Given the description of an element on the screen output the (x, y) to click on. 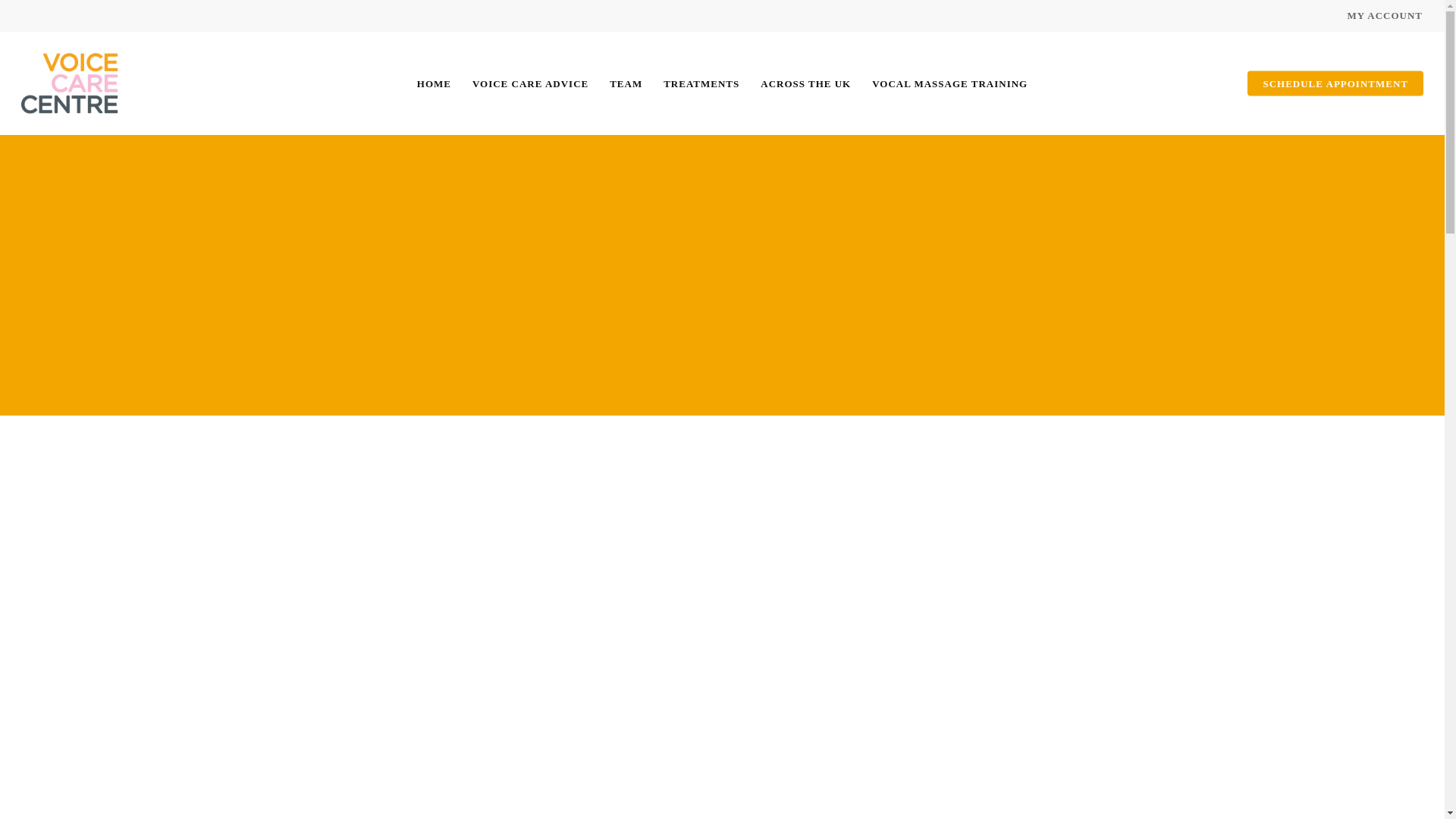
VOCAL MASSAGE TRAINING (949, 83)
HOME (433, 83)
ACROSS THE UK (805, 83)
MY ACCOUNT (1385, 15)
VOICE CARE ADVICE (529, 83)
TEAM (626, 83)
SCHEDULE APPOINTMENT (1335, 83)
TREATMENTS (701, 83)
